Given the description of an element on the screen output the (x, y) to click on. 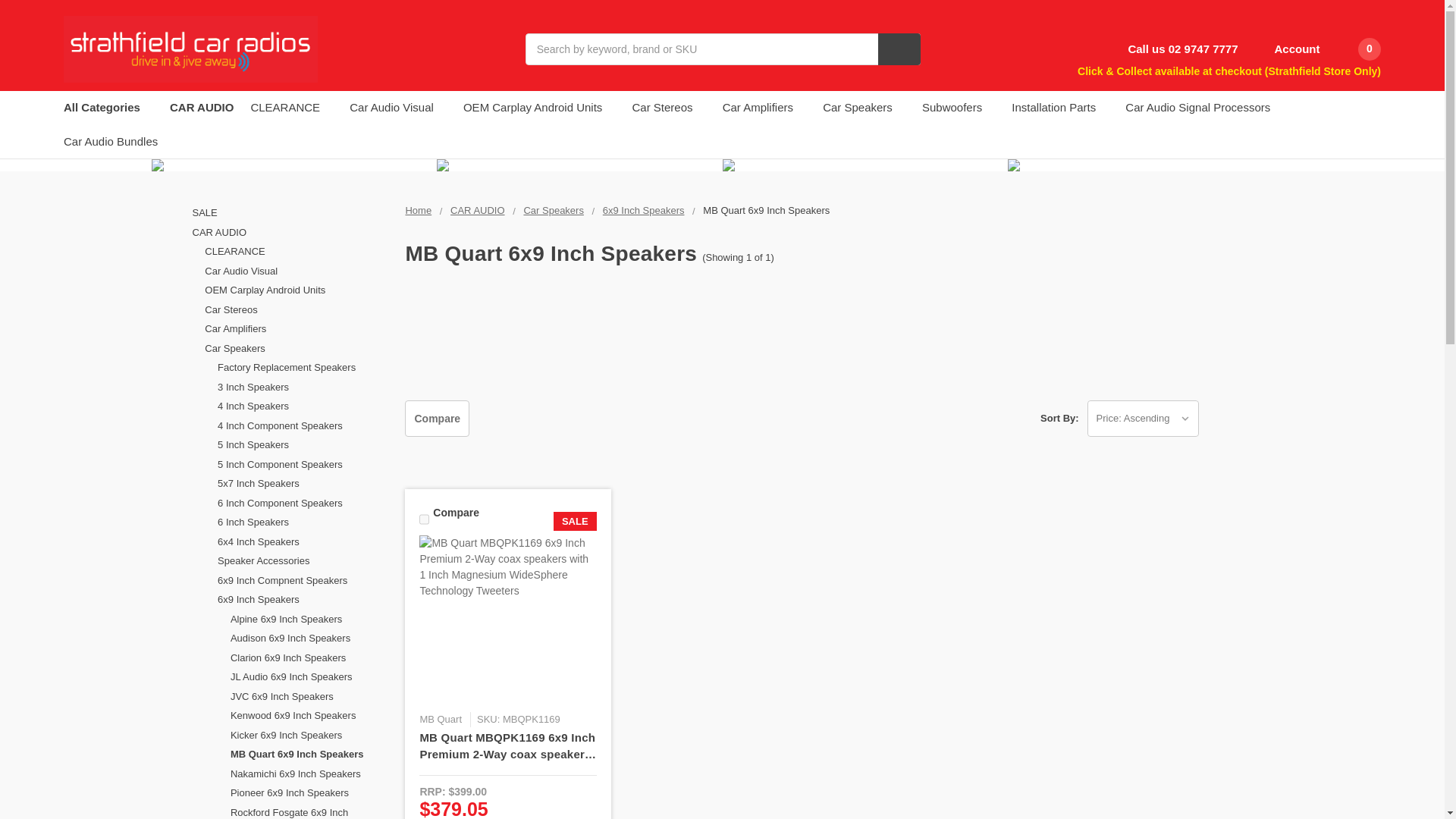
6x4 Inch Speakers (302, 598)
Car Audio Visual (296, 327)
CAR AUDIO (290, 288)
STOCKTAKE SALE (290, 269)
Factory Replacement Speakers (302, 424)
4 Inch Component Speakers (302, 482)
3 Inch Speakers (302, 443)
5x7 Inch Speakers (302, 539)
4 Inch Speakers (302, 462)
5 Inch Speakers (302, 501)
